Given the description of an element on the screen output the (x, y) to click on. 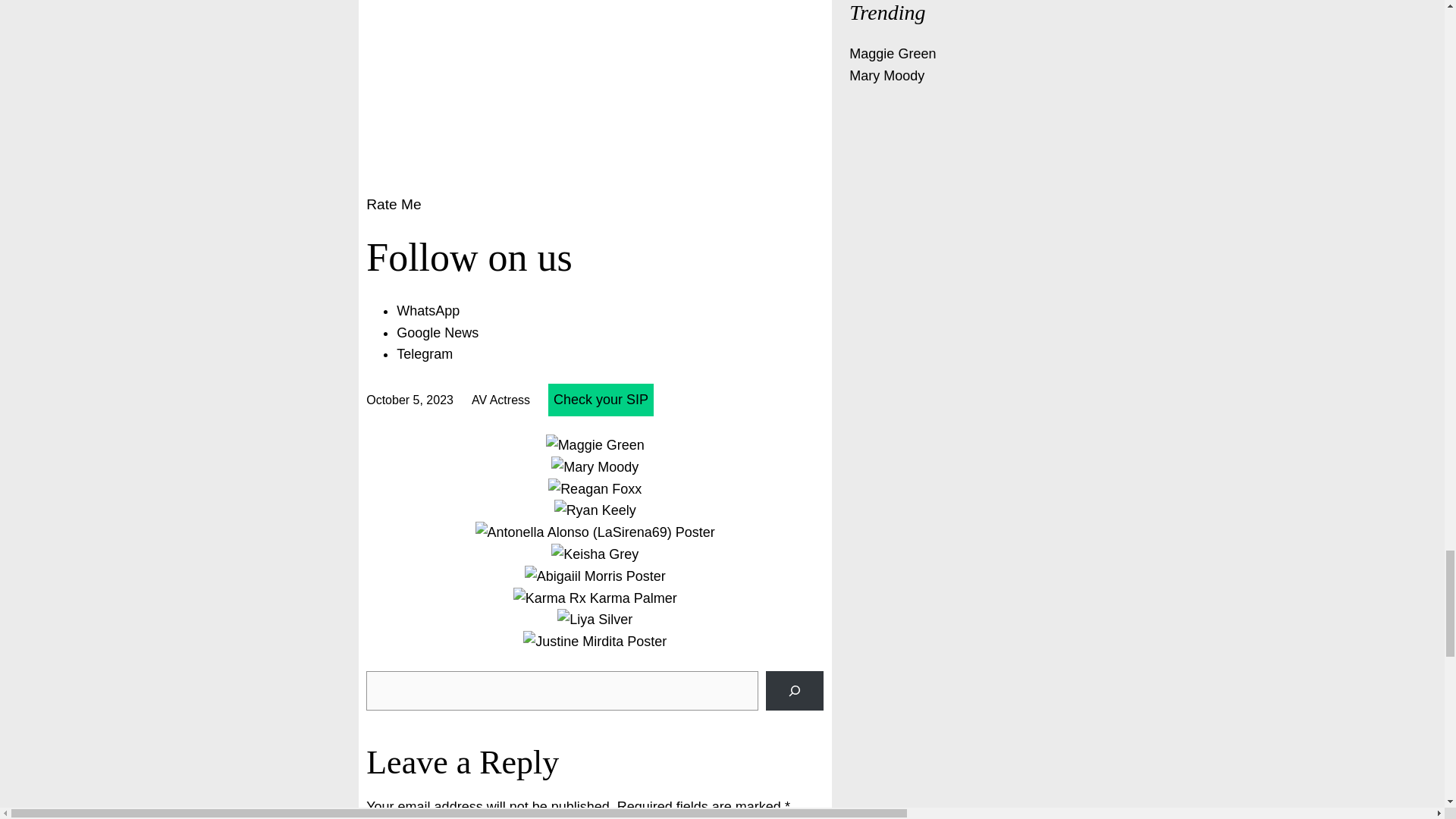
Maggie Green 1 (595, 445)
Antonella Alonso 5 (595, 532)
Telegram (424, 353)
Karma Rx 8 (595, 598)
Google News (437, 332)
Abigaiil Morris 7 (594, 576)
Ryan Keely 4 (595, 510)
Keisha Grey 6 (595, 554)
WhatsApp (428, 310)
Reagan Foxx 3 (595, 489)
